Given the description of an element on the screen output the (x, y) to click on. 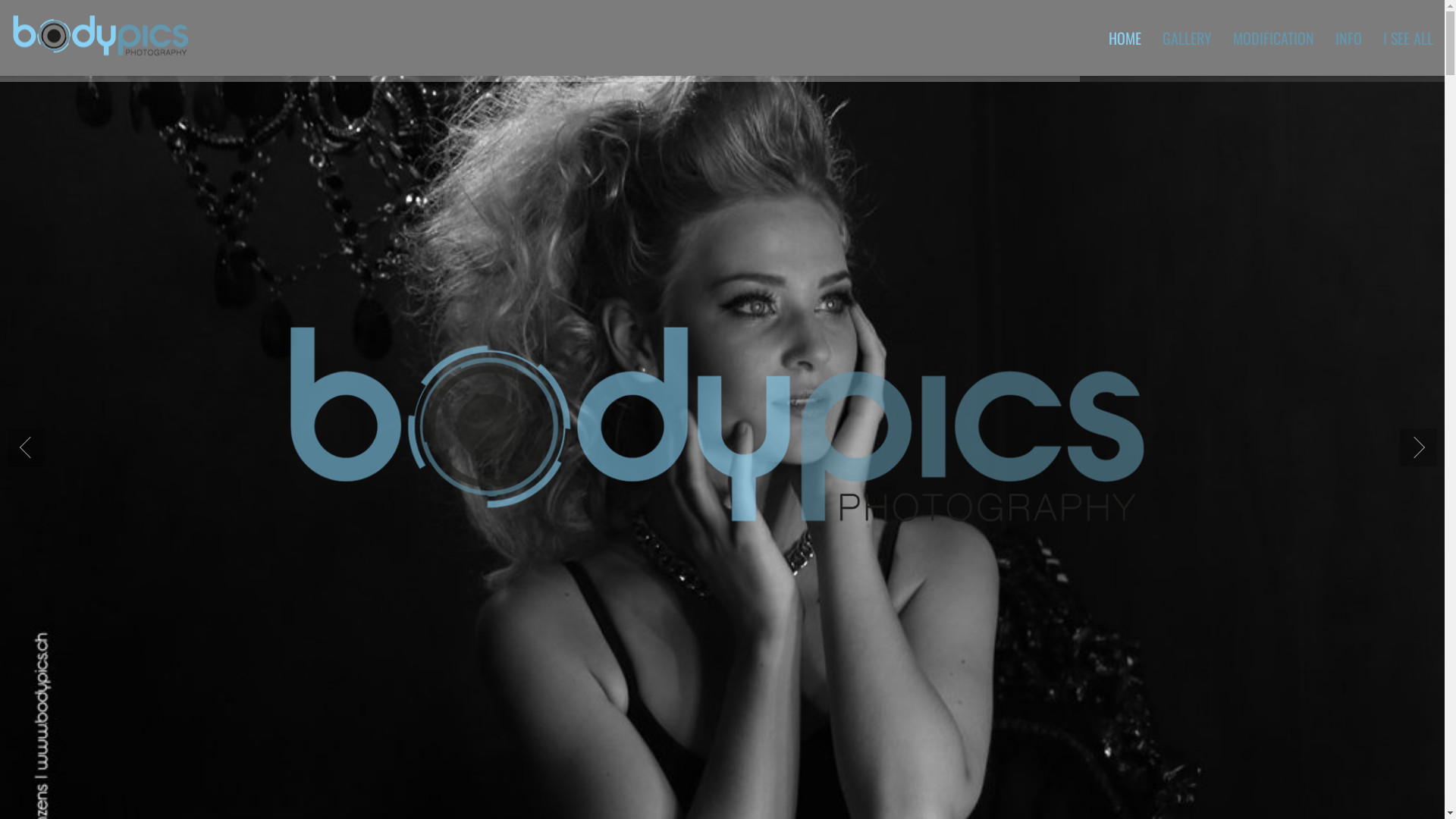
I SEE ALL Element type: text (1402, 37)
HOME Element type: text (1124, 37)
MODIFICATION Element type: text (1273, 37)
GALLERY Element type: text (1186, 37)
INFO Element type: text (1348, 37)
